Given the description of an element on the screen output the (x, y) to click on. 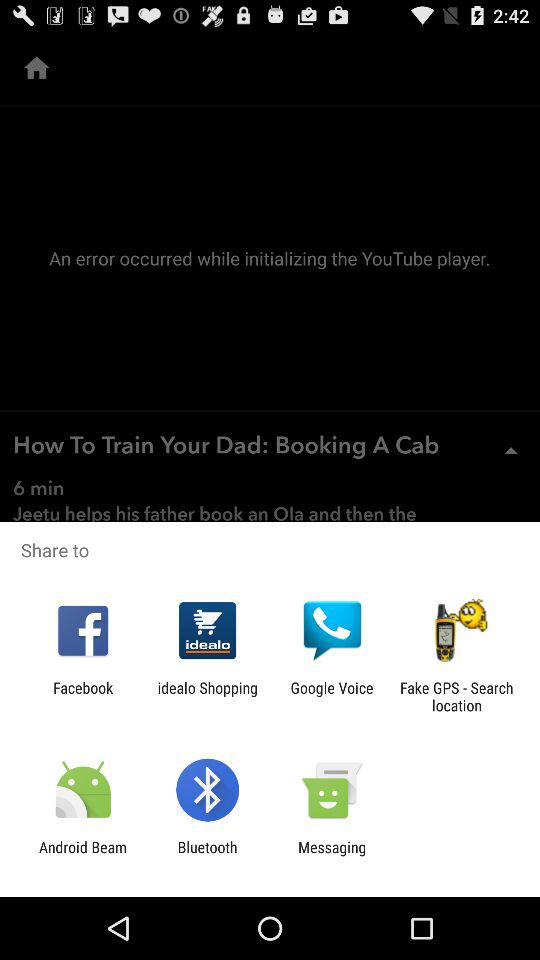
swipe until the messaging app (332, 856)
